Given the description of an element on the screen output the (x, y) to click on. 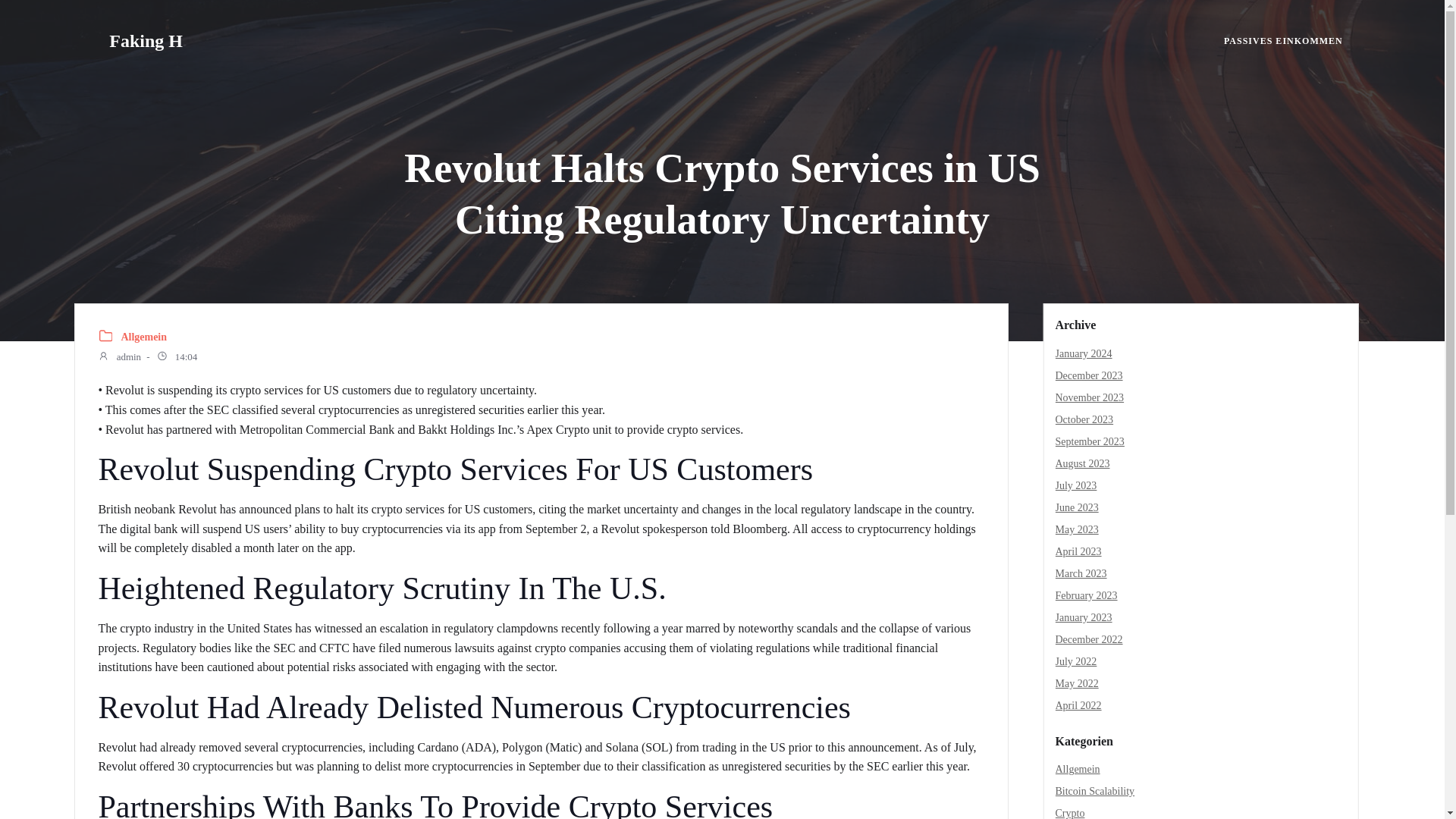
September 2023 (1089, 441)
May 2023 (1077, 529)
July 2023 (1076, 485)
Faking H (146, 40)
March 2023 (1080, 573)
January 2023 (1083, 617)
Allgemein (143, 337)
May 2022 (1077, 683)
July 2022 (1076, 661)
January 2024 (1083, 353)
14:04 (175, 357)
February 2023 (1086, 595)
Bitcoin Scalability (1095, 790)
April 2022 (1078, 705)
admin (119, 357)
